Given the description of an element on the screen output the (x, y) to click on. 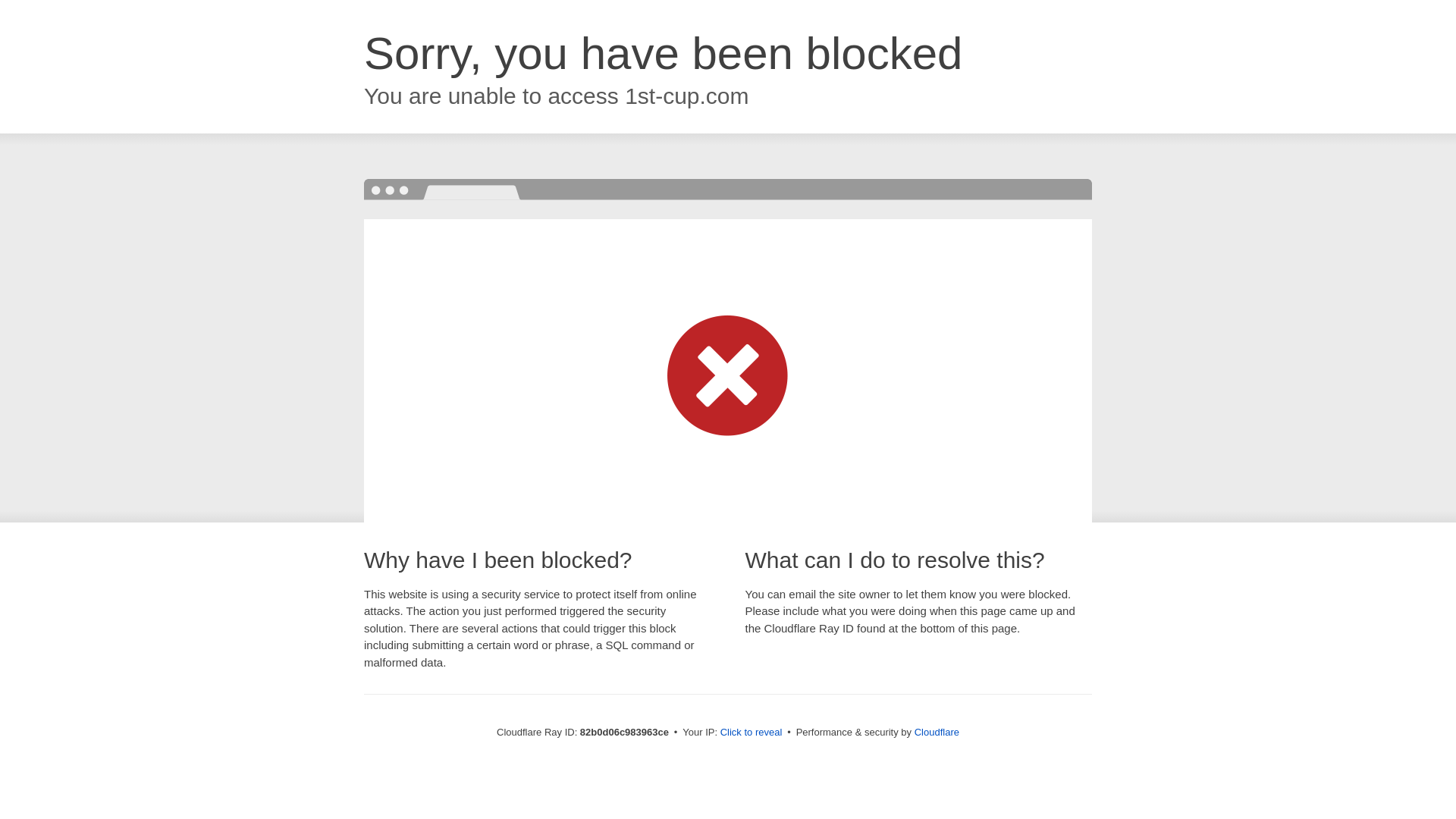
Cloudflare Element type: text (936, 731)
Click to reveal Element type: text (751, 732)
